Given the description of an element on the screen output the (x, y) to click on. 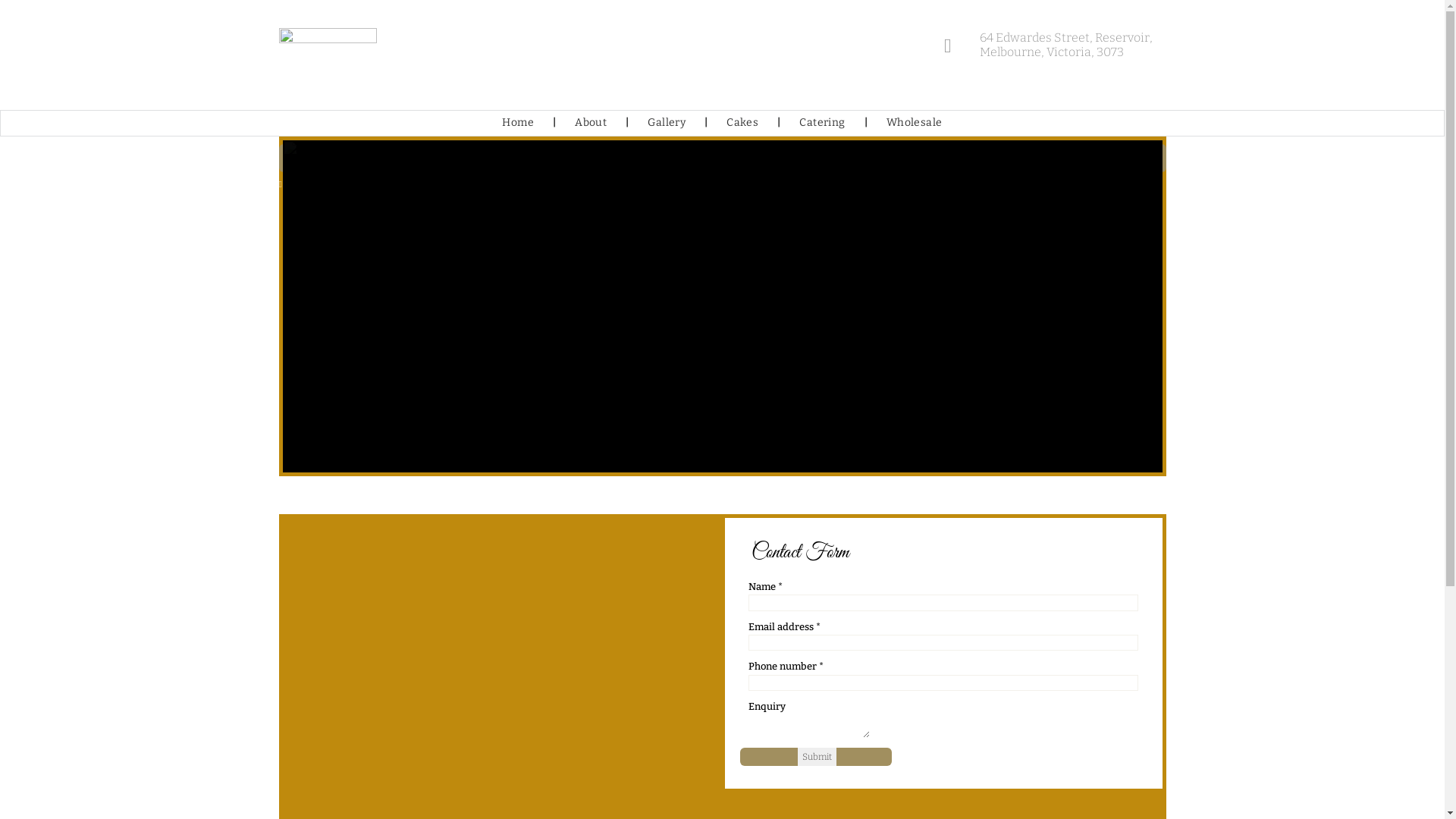
Home Element type: text (517, 122)
About Element type: text (590, 122)
Catering Element type: text (821, 122)
Submit Element type: text (816, 756)
64 Edwardes Street, Reservoir, Melbourne, Victoria, 3073 Element type: text (1055, 44)
Cakes Element type: text (742, 122)
New Button Element type: text (722, 158)
Wholesale Element type: text (914, 122)
Gallery Element type: text (666, 122)
